Given the description of an element on the screen output the (x, y) to click on. 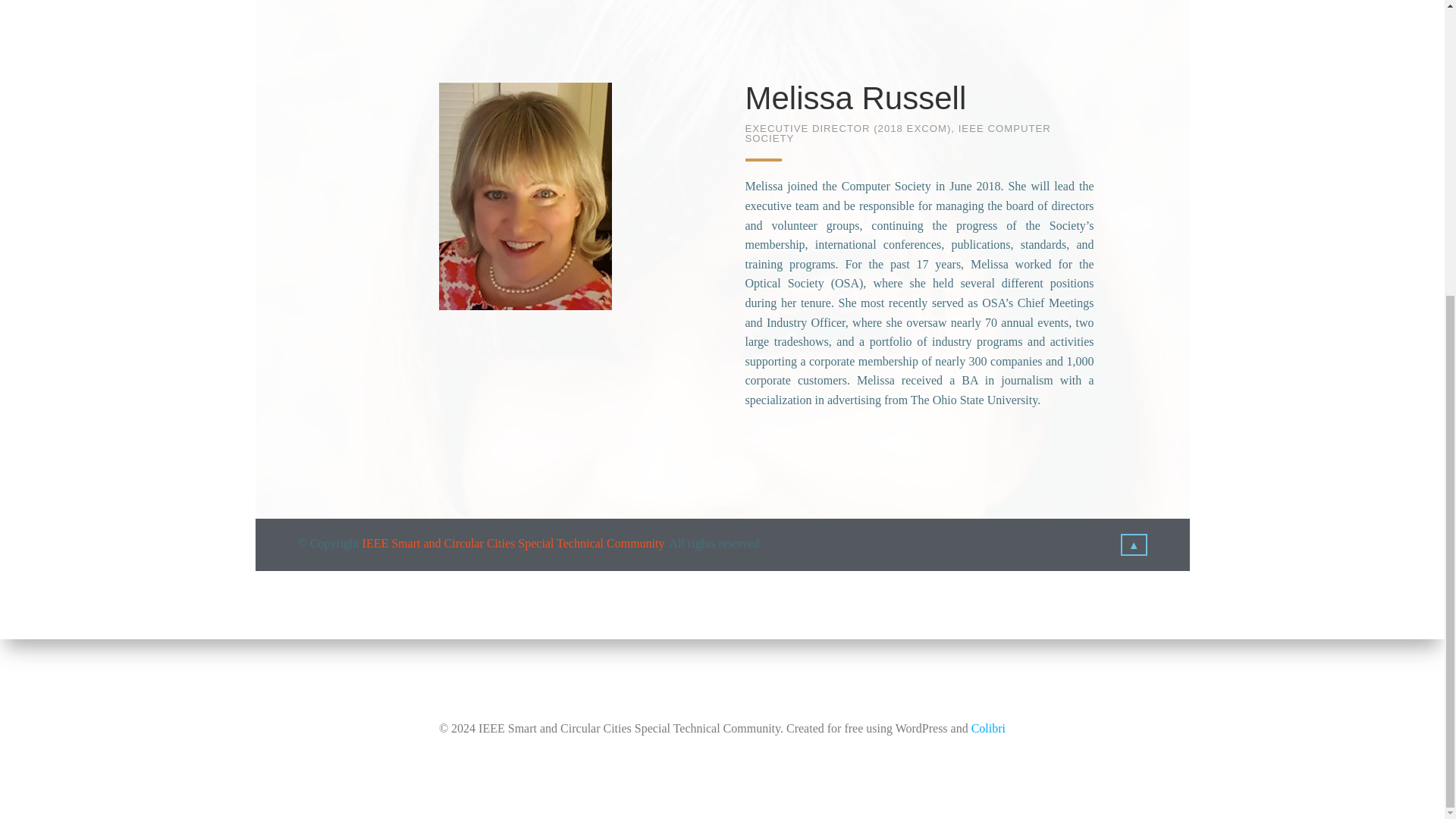
Colibri (988, 273)
